Given the description of an element on the screen output the (x, y) to click on. 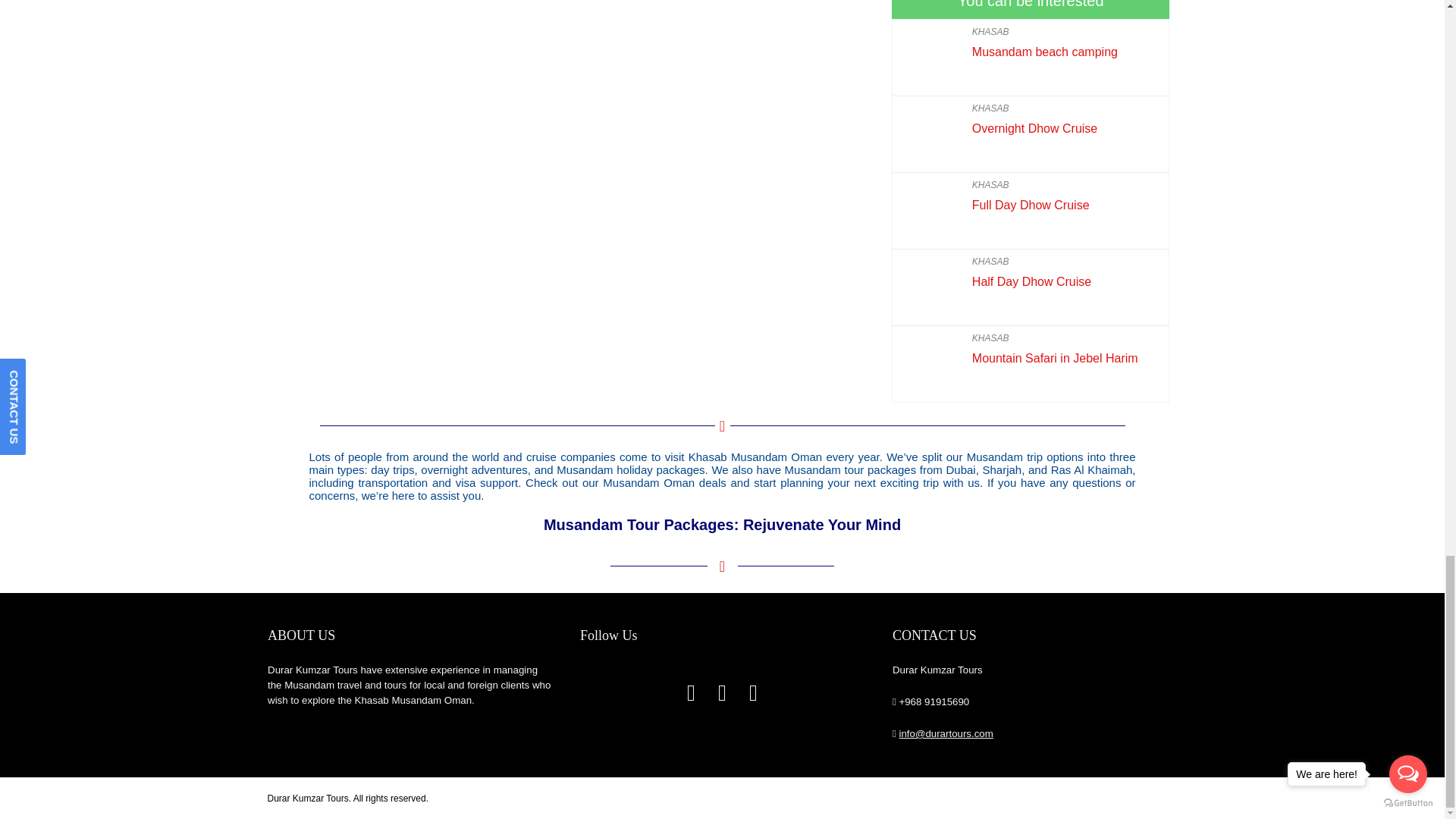
Khasab, Musandam, Sultanate of Oman (575, 104)
